Given the description of an element on the screen output the (x, y) to click on. 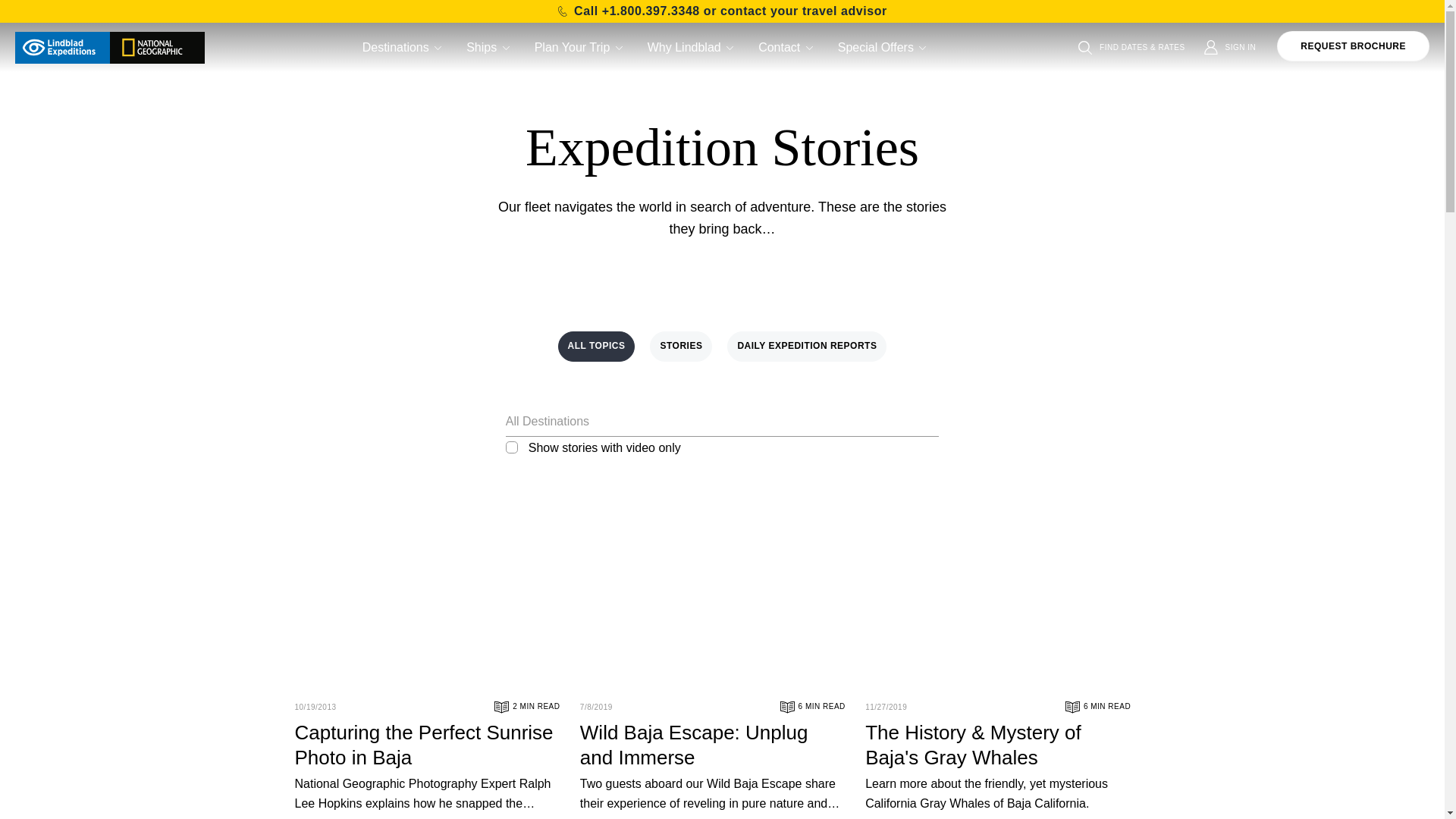
Destinations (403, 47)
